Given the description of an element on the screen output the (x, y) to click on. 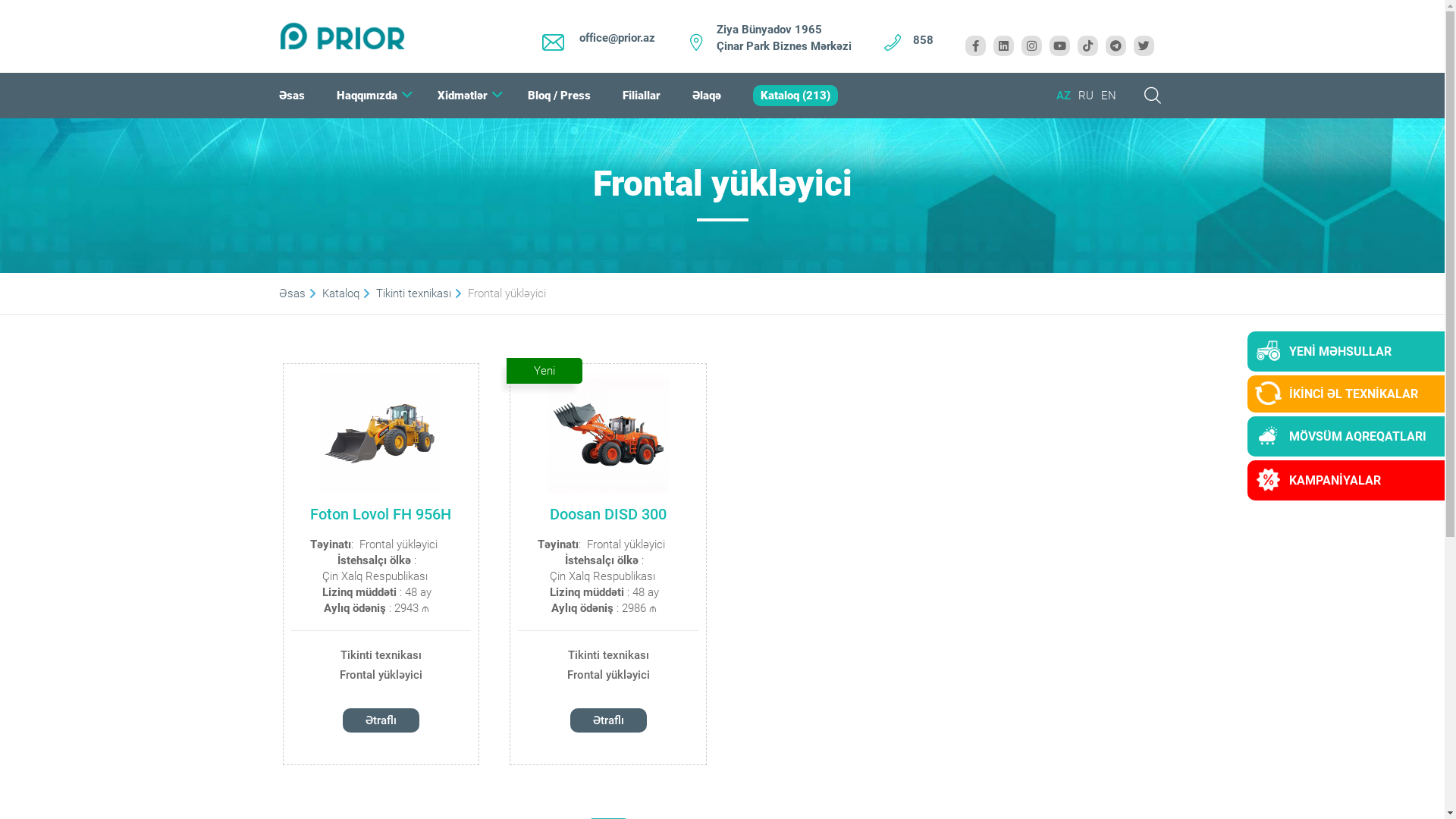
Doosan DISD 300 Element type: text (607, 514)
KAMPANIYALAR Element type: text (1349, 480)
Foton Lovol FH 956H  Element type: hover (380, 431)
Filiallar Element type: text (640, 95)
RU Element type: text (1085, 95)
Bloq / Press Element type: text (558, 95)
Kataloq (213) Element type: text (794, 95)
Doosan DISD 300  Element type: hover (607, 431)
Foton Lovol FH 956H Element type: text (380, 514)
Yeni Element type: text (544, 370)
EN Element type: text (1108, 95)
858 Element type: text (923, 39)
AZ Element type: text (1062, 95)
